Given the description of an element on the screen output the (x, y) to click on. 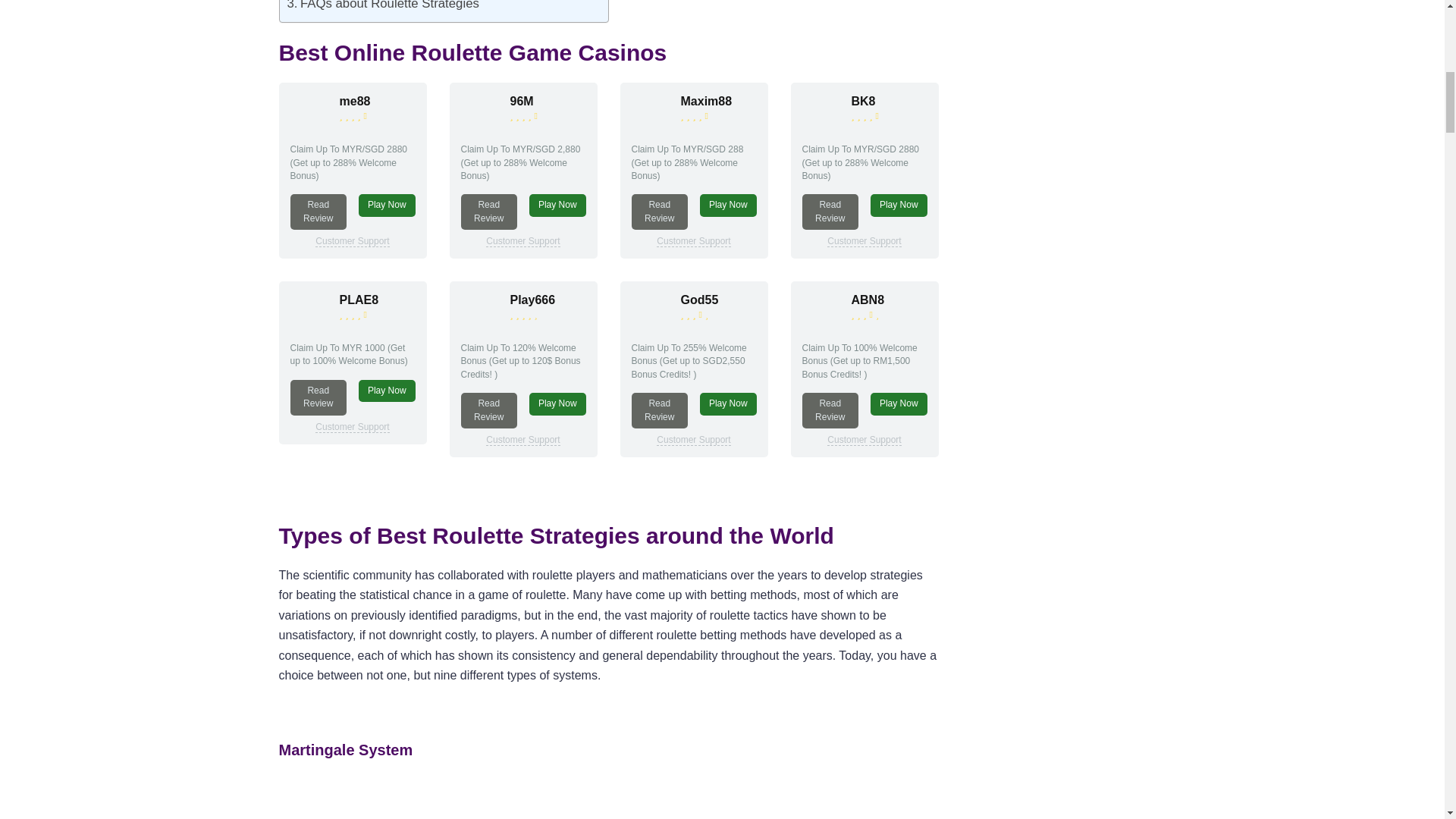
FAQs about Roulette Strategies (382, 7)
me88 (308, 111)
Read Review (317, 212)
me88 (355, 101)
me88 (355, 101)
FAQs about Roulette Strategies (382, 7)
